Given the description of an element on the screen output the (x, y) to click on. 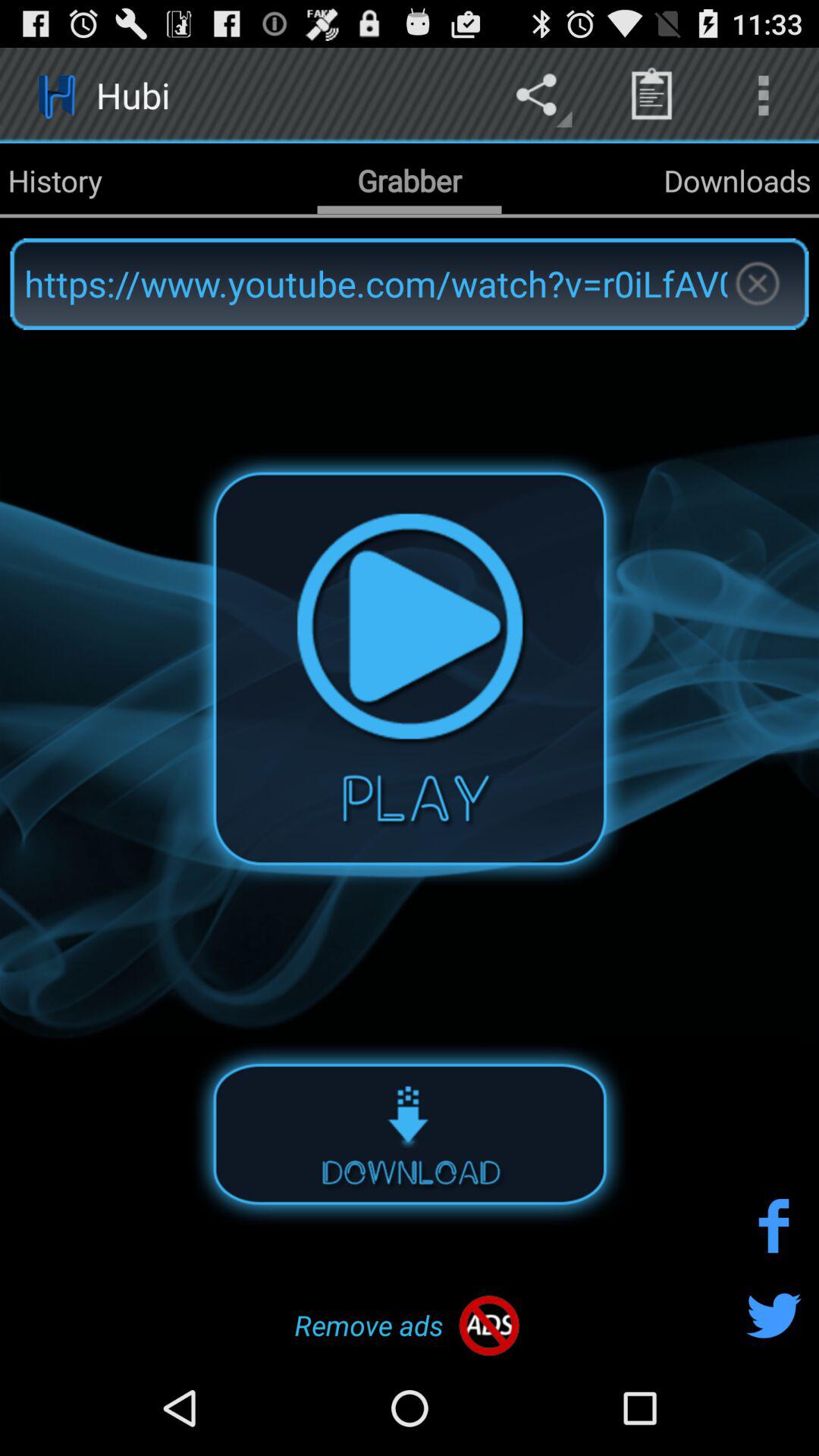
switch autoplay option (409, 1133)
